Given the description of an element on the screen output the (x, y) to click on. 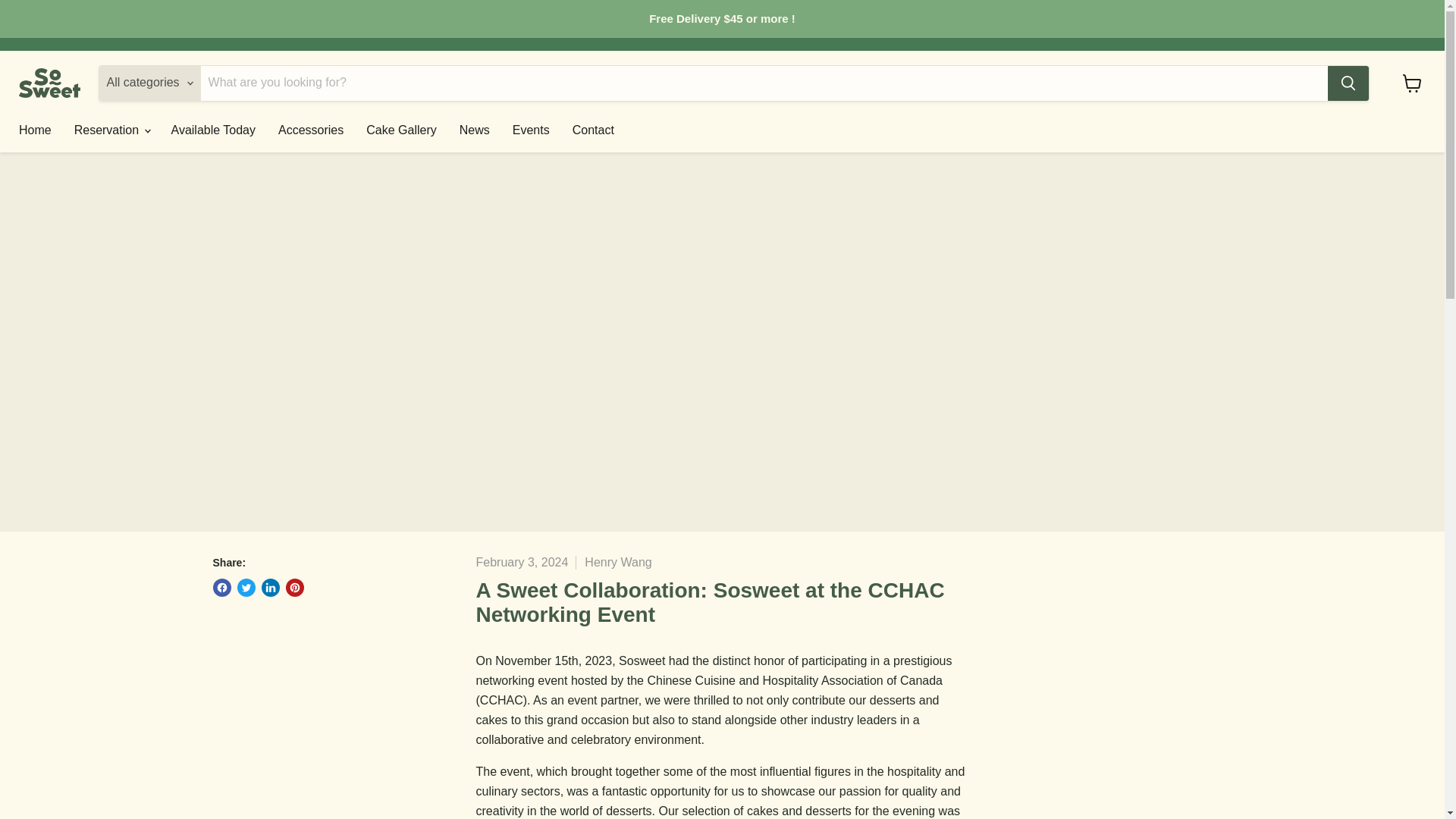
Available Today (213, 129)
News (474, 129)
View cart (1411, 82)
Accessories (310, 129)
Events (530, 129)
Cake Gallery (400, 129)
Contact (593, 129)
Home (34, 129)
